Given the description of an element on the screen output the (x, y) to click on. 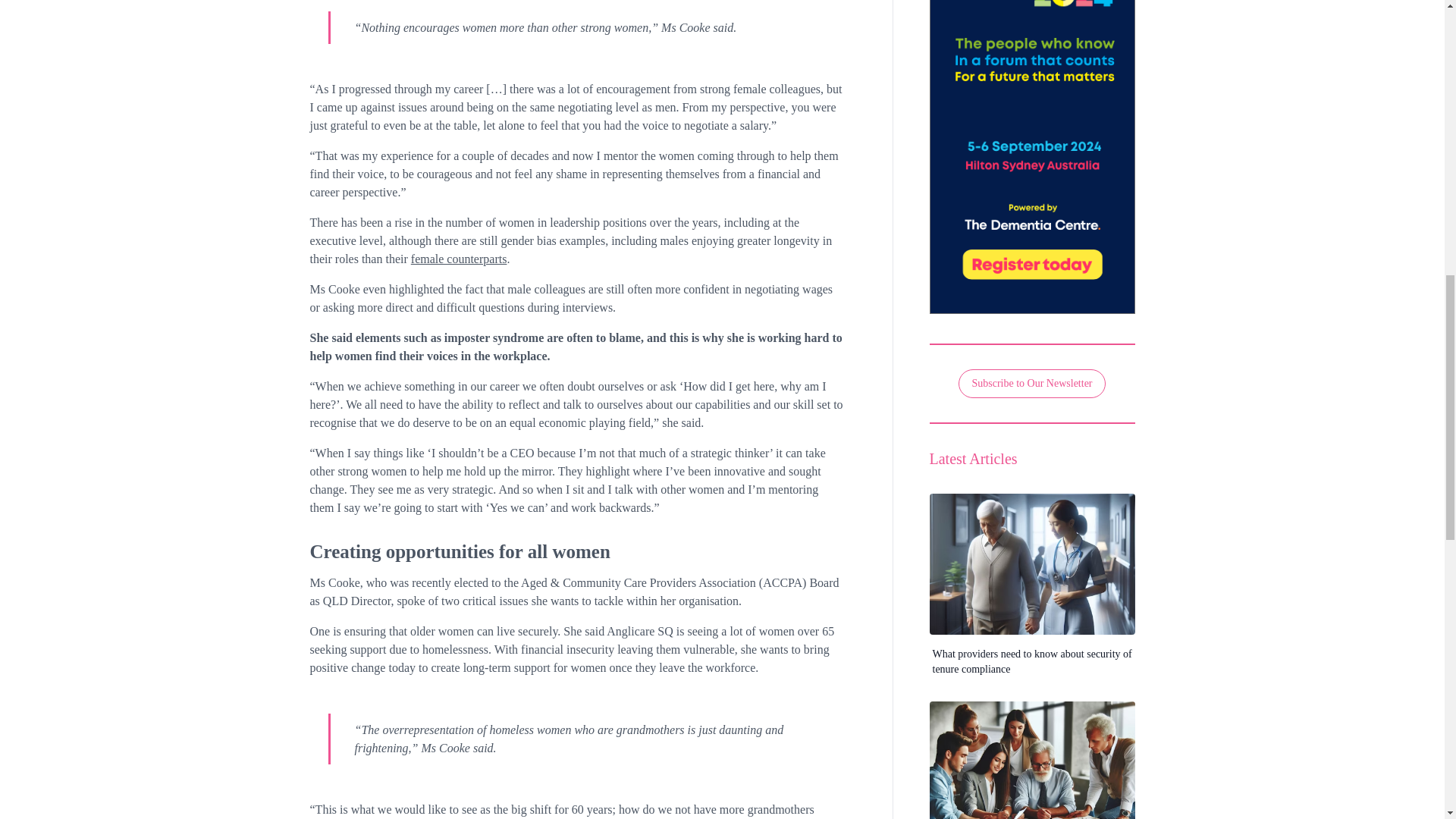
female counterparts (458, 258)
Subscribe to Our Newsletter (1031, 383)
Subscribe to Our Newsletter (1031, 383)
